Given the description of an element on the screen output the (x, y) to click on. 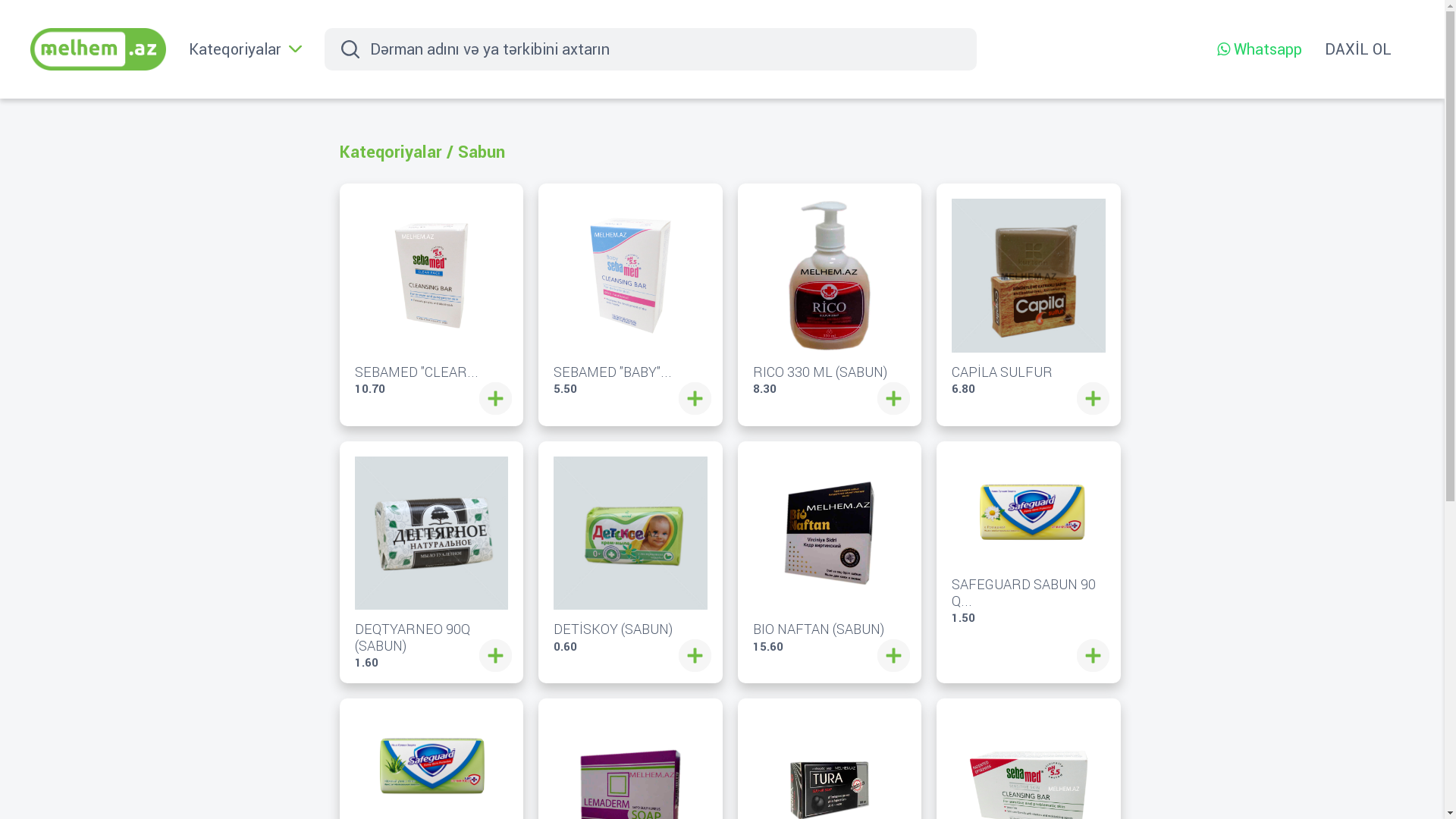
RICO 330 ML (SABUN)
8.30 Element type: text (829, 296)
BIO NAFTAN (SABUN)
15.60 Element type: text (829, 554)
Whatsapp Element type: text (1259, 49)
SEBAMED "BABY"...
5.50 Element type: text (630, 296)
SEBAMED "CLEAR...
10.70 Element type: text (431, 296)
Kateqoriyalar Element type: text (244, 49)
SAFEGUARD SABUN 90 Q...
1.50 Element type: text (1028, 540)
Kateqoriyalar Element type: text (390, 152)
DEQTYARNEO 90Q (SABUN)
1.60 Element type: text (431, 562)
Sabun Element type: text (481, 152)
